Given the description of an element on the screen output the (x, y) to click on. 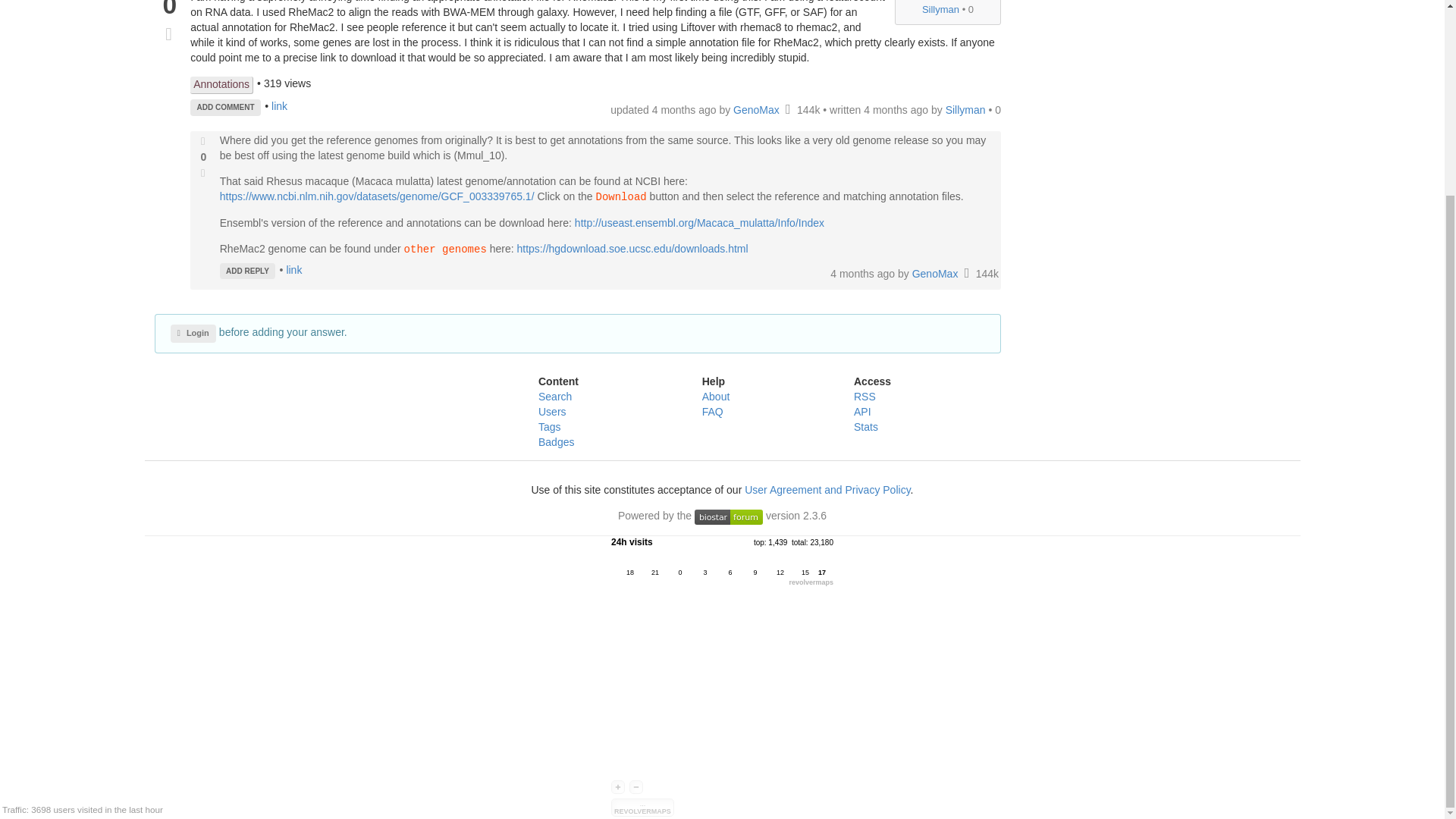
Sillyman (966, 110)
ADD COMMENT (225, 107)
GenoMax (758, 110)
Sillyman (940, 9)
link (278, 105)
Annotations (221, 85)
